Given the description of an element on the screen output the (x, y) to click on. 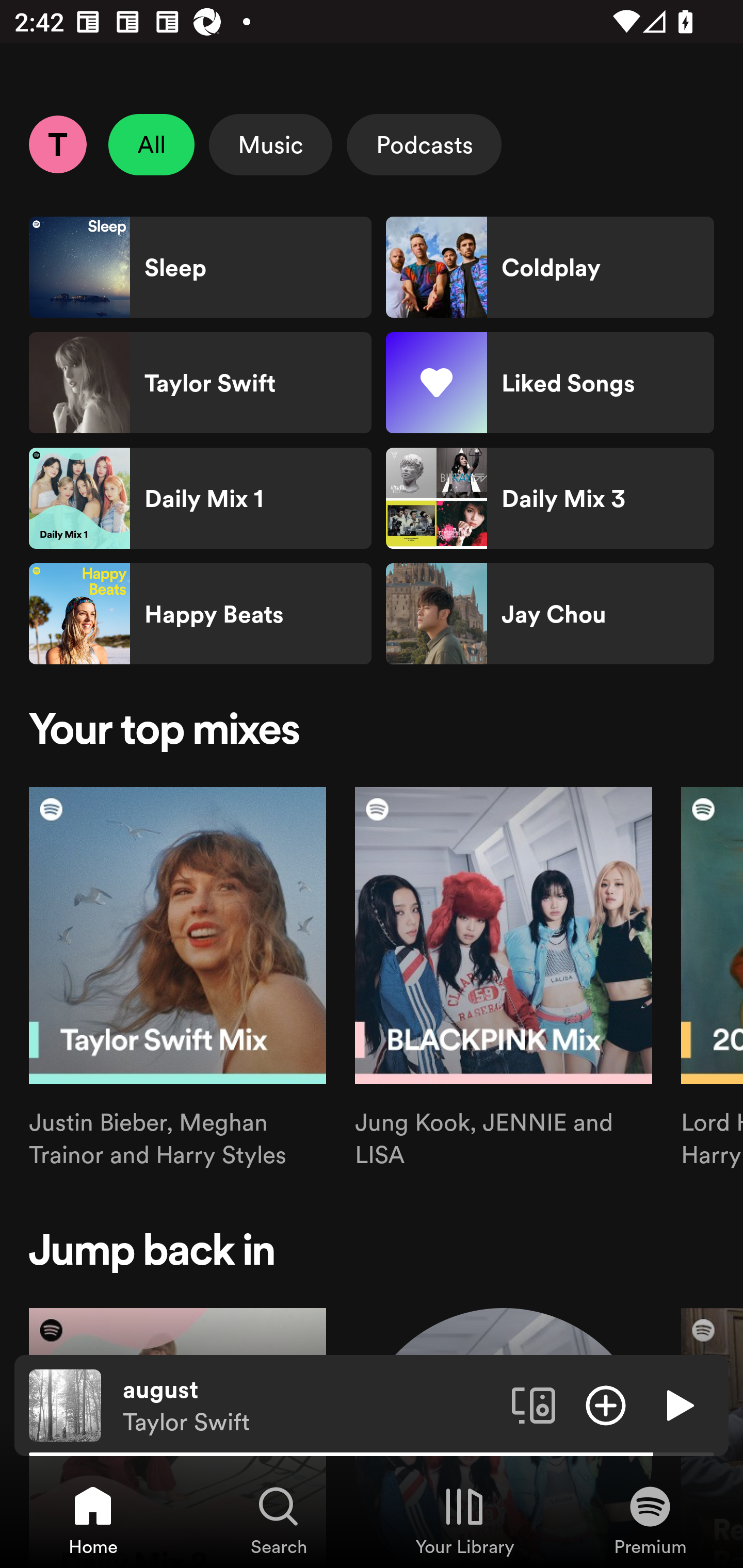
Profile (57, 144)
All Unselect All (151, 144)
Music Select Music (270, 144)
Podcasts Select Podcasts (423, 144)
Sleep Shortcut Sleep (199, 267)
Coldplay Shortcut Coldplay (549, 267)
Taylor Swift Shortcut Taylor Swift (199, 382)
Liked Songs Shortcut Liked Songs (549, 382)
Daily Mix 1 Shortcut Daily Mix 1 (199, 498)
Daily Mix 3 Shortcut Daily Mix 3 (549, 498)
Happy Beats Shortcut Happy Beats (199, 613)
Jay Chou Shortcut Jay Chou (549, 613)
august Taylor Swift (309, 1405)
The cover art of the currently playing track (64, 1404)
Connect to a device. Opens the devices menu (533, 1404)
Add item (605, 1404)
Play (677, 1404)
Home, Tab 1 of 4 Home Home (92, 1519)
Search, Tab 2 of 4 Search Search (278, 1519)
Your Library, Tab 3 of 4 Your Library Your Library (464, 1519)
Premium, Tab 4 of 4 Premium Premium (650, 1519)
